Given the description of an element on the screen output the (x, y) to click on. 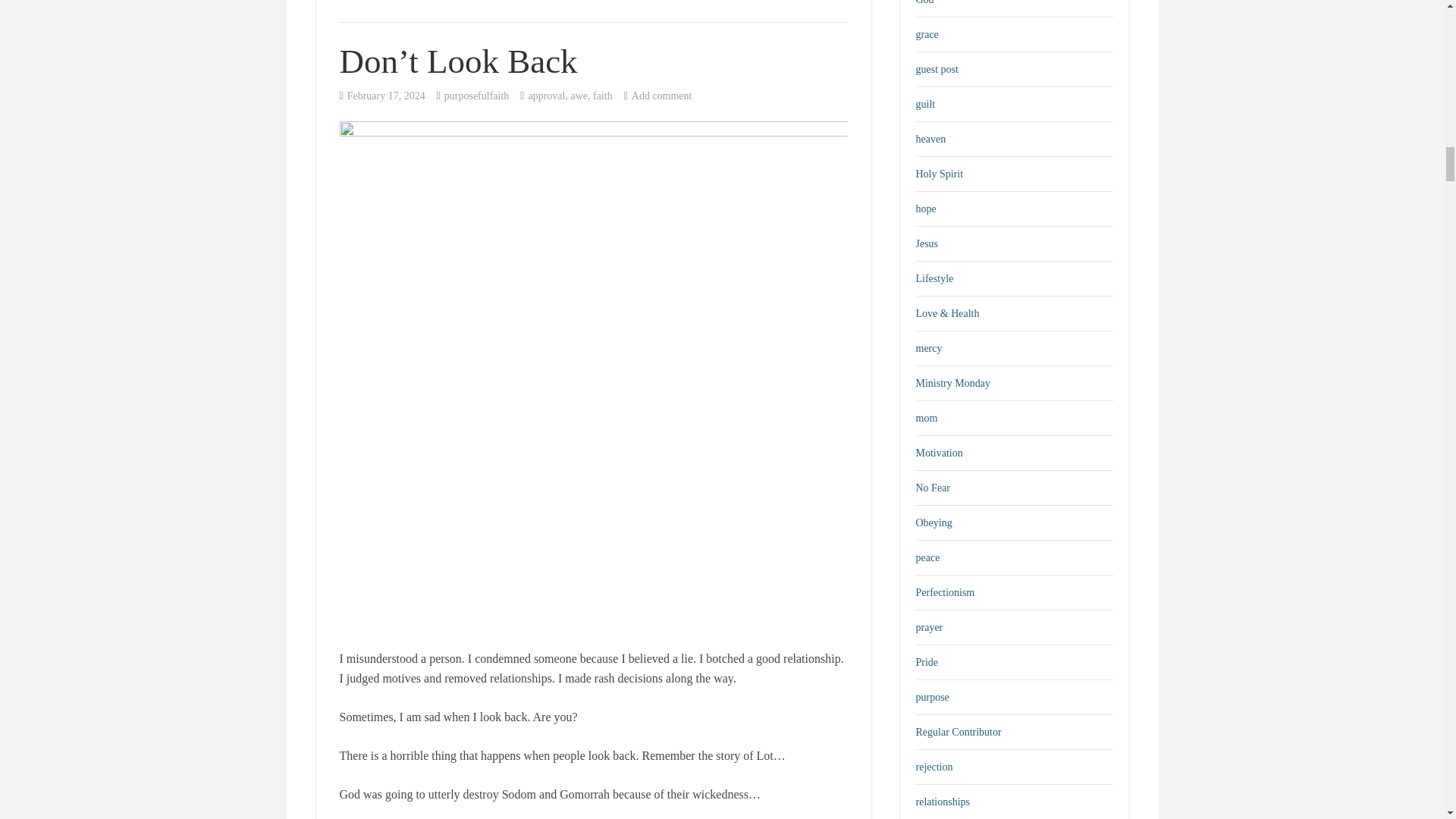
Add comment (662, 95)
awe (579, 95)
approval (545, 95)
purposefulfaith (476, 95)
faith (602, 95)
